Given the description of an element on the screen output the (x, y) to click on. 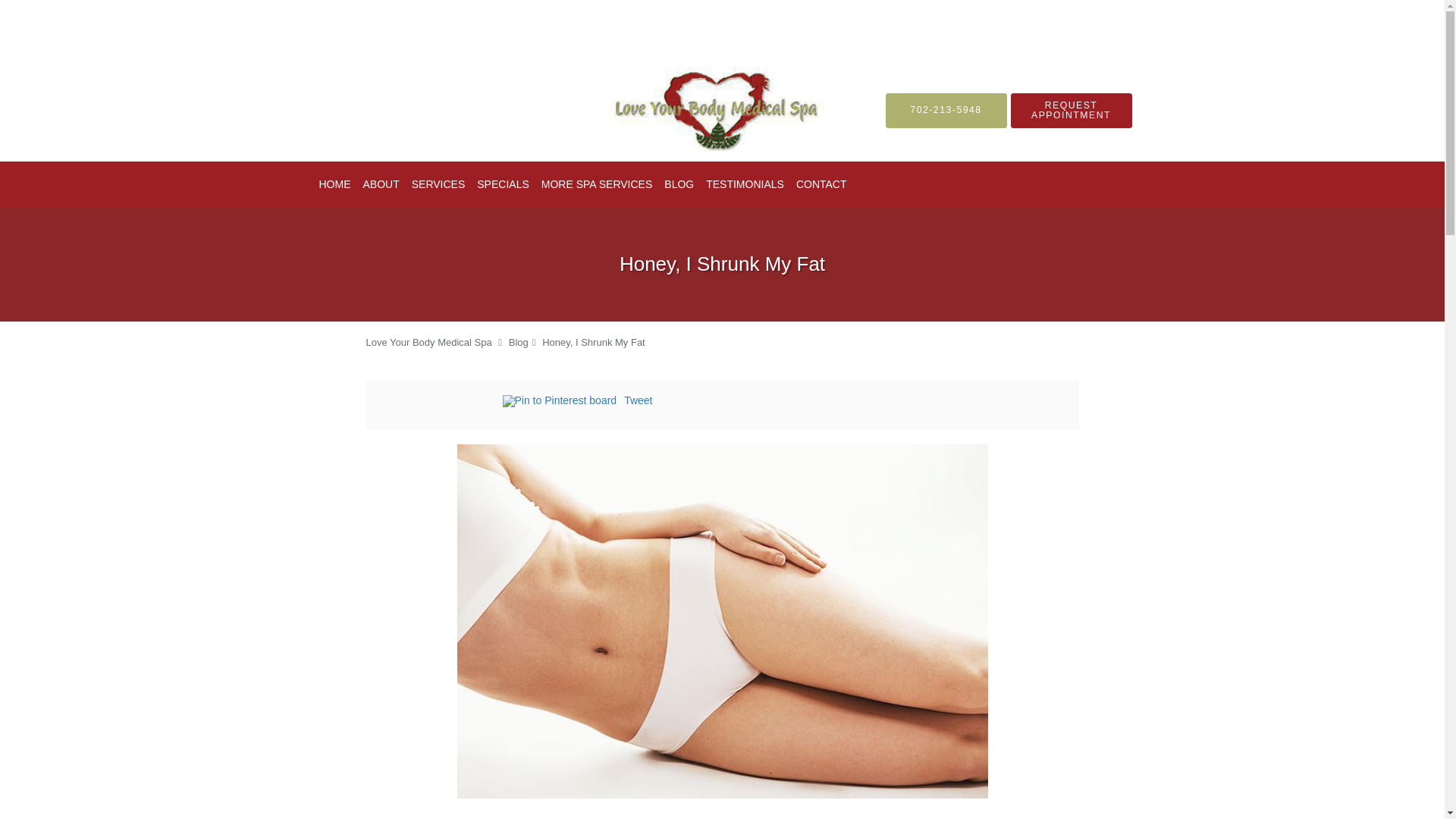
CONTACT (821, 184)
MORE SPA SERVICES (597, 184)
Love Your Body Medical Spa (428, 342)
TESTIMONIALS (745, 184)
Facebook social button (441, 402)
REQUEST APPOINTMENT (1070, 109)
Tweet (638, 399)
HOME (334, 184)
702-213-5948 (946, 109)
BLOG (679, 184)
